Given the description of an element on the screen output the (x, y) to click on. 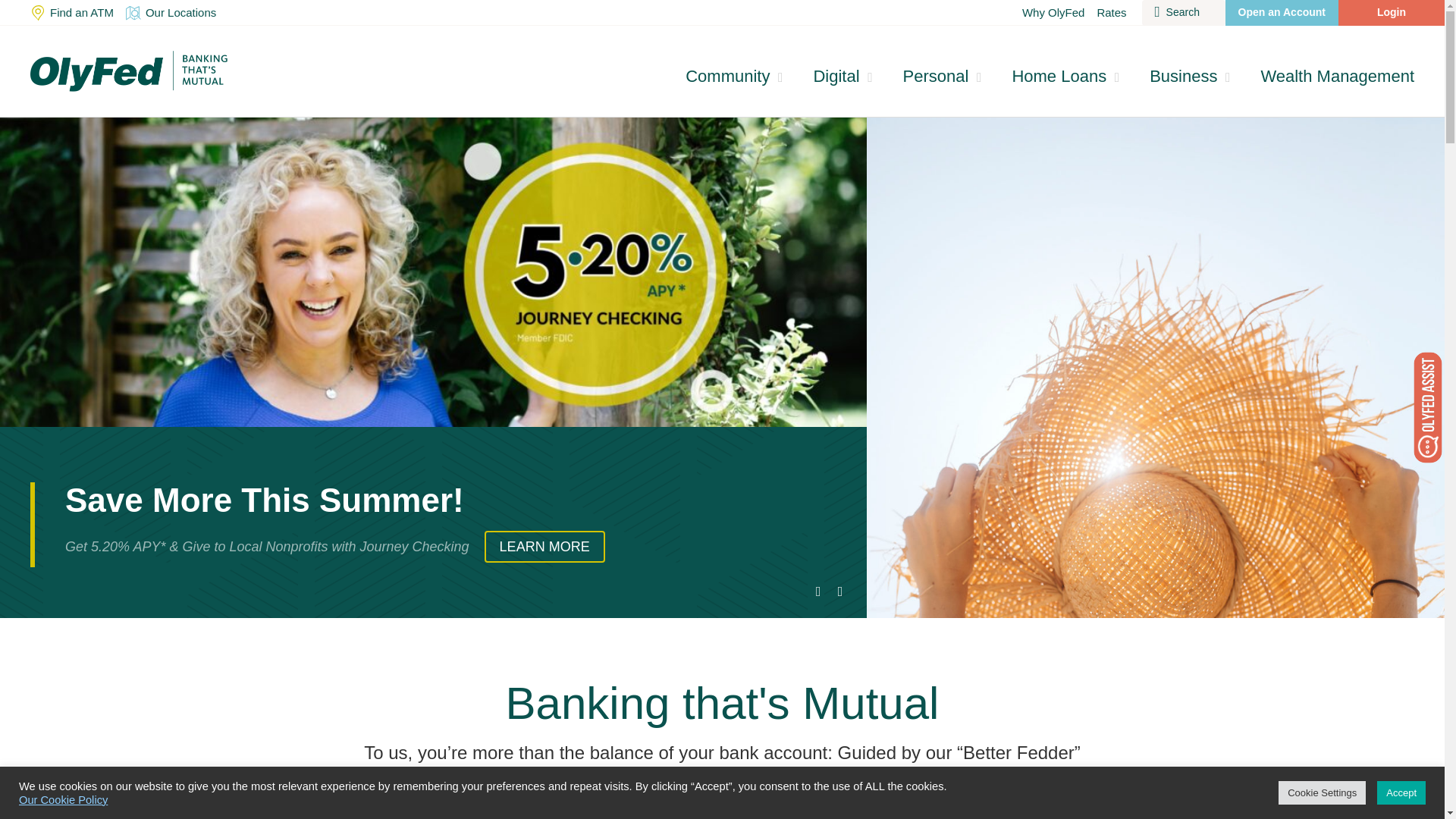
Find an ATM (71, 12)
Rates (1111, 12)
Digital (841, 76)
Personal (942, 76)
Why OlyFed (1053, 12)
Open an Account (1281, 12)
Community (733, 76)
Our Locations (170, 12)
Search (1183, 12)
